Given the description of an element on the screen output the (x, y) to click on. 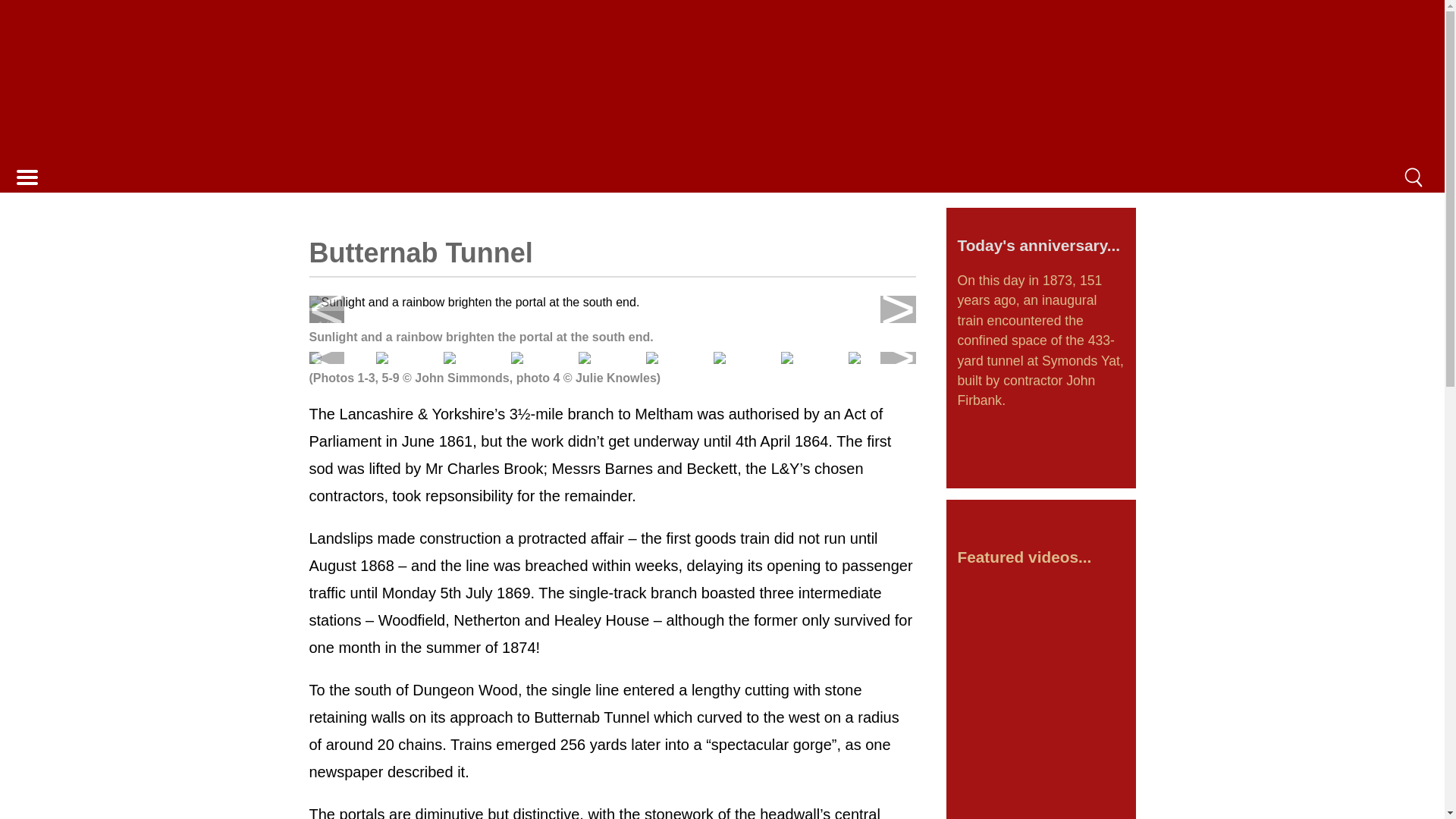
YouTube video player (1040, 628)
YouTube video player (1040, 726)
